Given the description of an element on the screen output the (x, y) to click on. 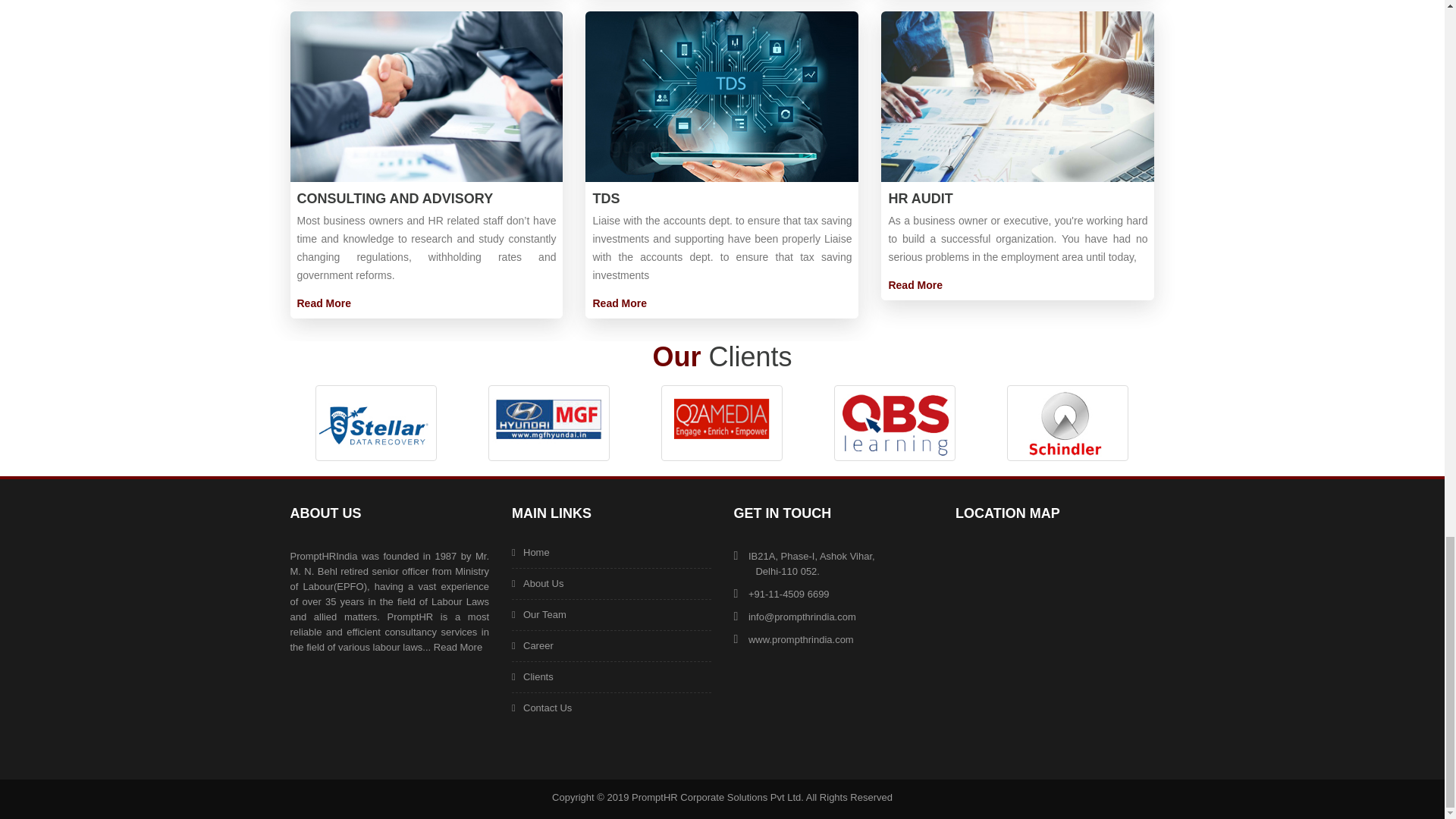
Read More (324, 303)
TDS (606, 198)
HR AUDIT (920, 198)
Read More (619, 303)
Read More (915, 285)
CONSULTING AND ADVISORY (395, 198)
